Given the description of an element on the screen output the (x, y) to click on. 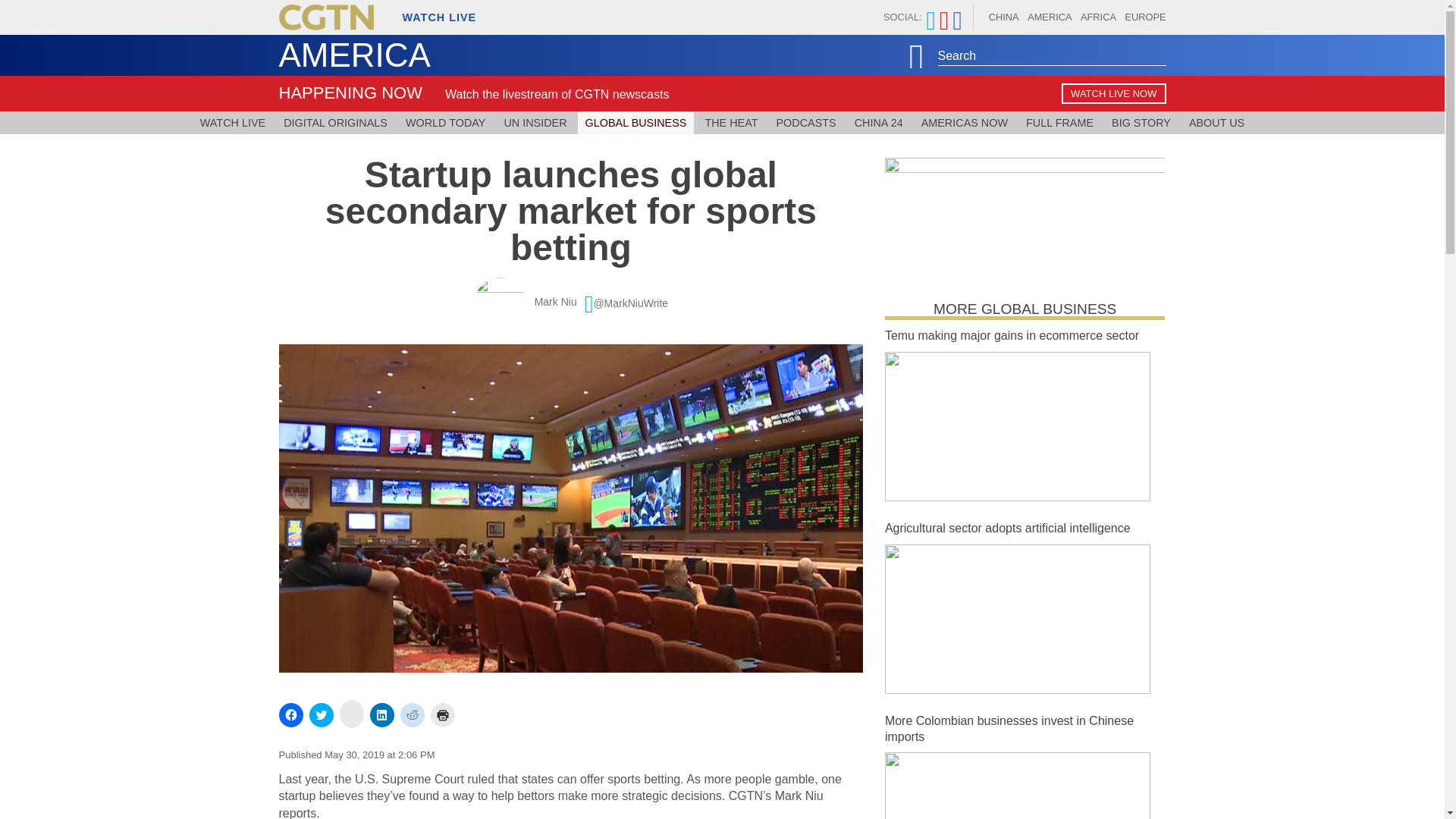
UN INSIDER (534, 122)
THE HEAT (731, 122)
AMERICAS NOW (964, 122)
Click to share on LinkedIn (381, 714)
WATCH LIVE (430, 19)
AFRICA (1098, 16)
Search for: (1051, 52)
CHINA (1003, 16)
EUROPE (1145, 16)
WATCH LIVE NOW (1113, 93)
